Given the description of an element on the screen output the (x, y) to click on. 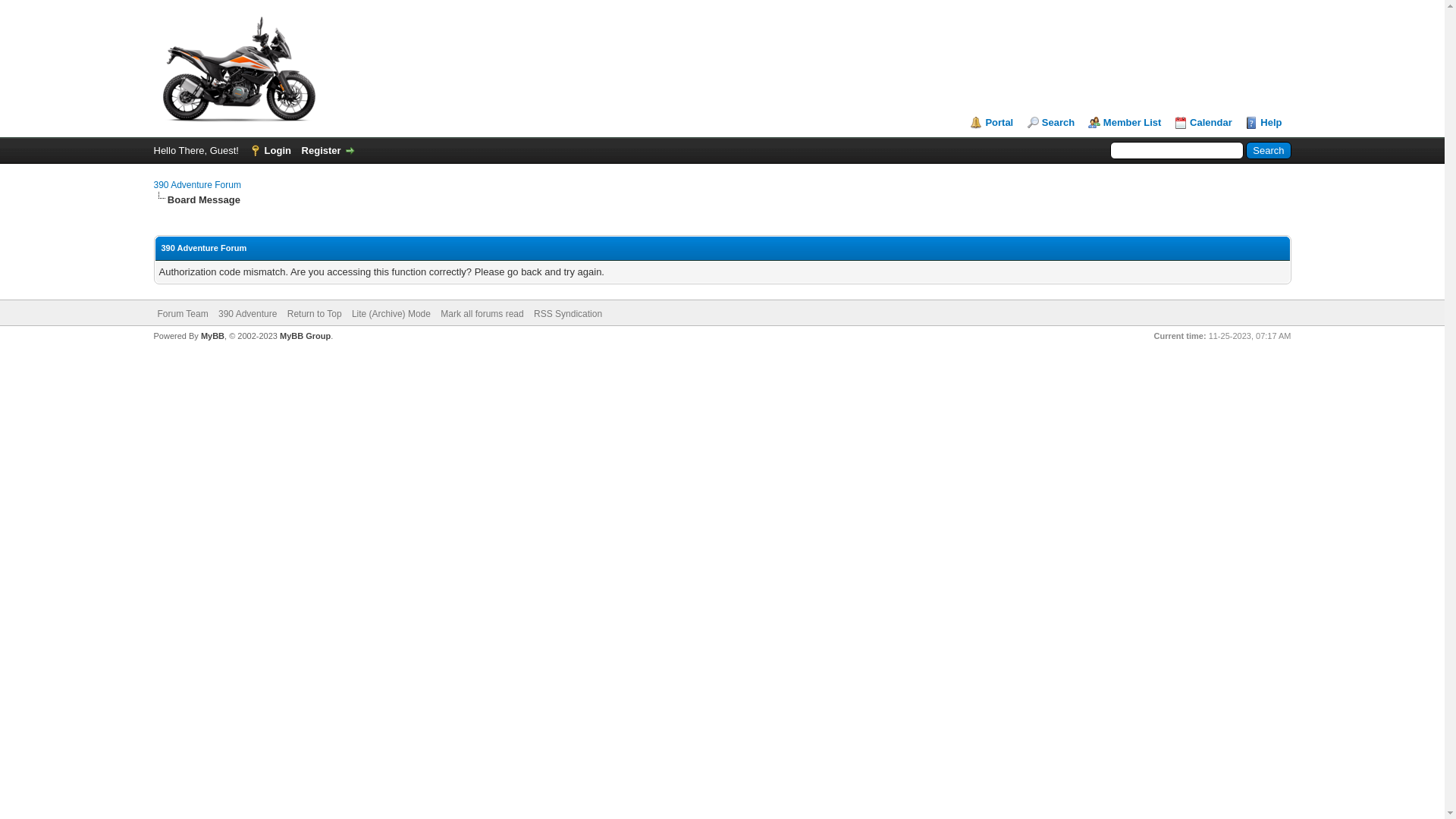
390 Adventure Forum Element type: hover (238, 65)
390 Adventure Forum Element type: text (196, 184)
RSS Syndication Element type: text (567, 313)
Search Element type: text (1050, 122)
Member List Element type: text (1124, 122)
Return to Top Element type: text (314, 313)
MyBB Group Element type: text (304, 335)
Portal Element type: text (991, 122)
Lite (Archive) Mode Element type: text (390, 313)
Register Element type: text (328, 150)
Help Element type: text (1263, 122)
Calendar Element type: text (1203, 122)
Mark all forums read Element type: text (481, 313)
Login Element type: text (270, 150)
390 Adventure Element type: text (247, 313)
Forum Team Element type: text (182, 313)
Search Element type: text (1267, 150)
MyBB Element type: text (212, 335)
